Given the description of an element on the screen output the (x, y) to click on. 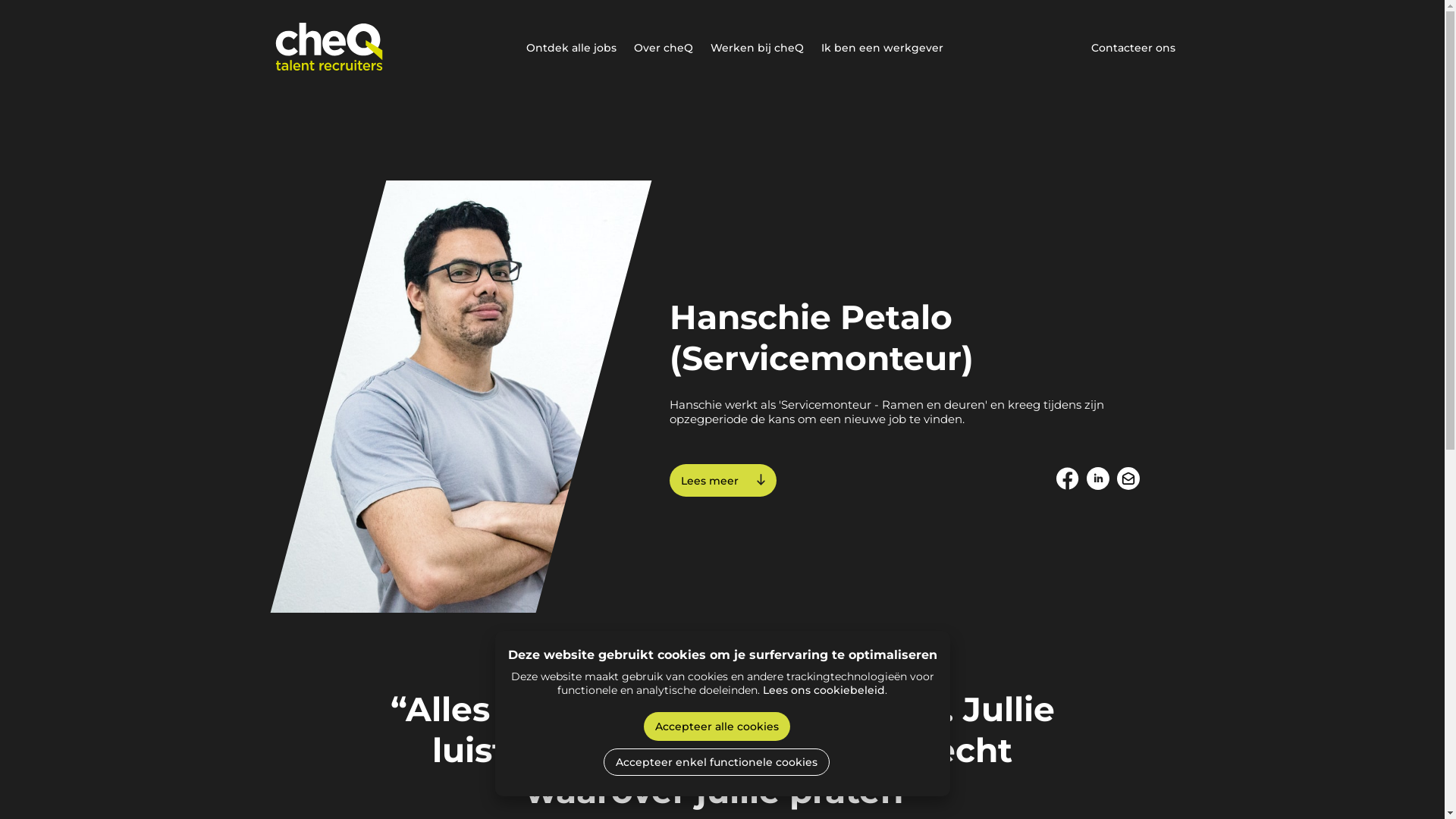
Accepteer alle cookies Element type: text (716, 725)
Group 2 Element type: text (1127, 479)
Lees ons cookiebeleid Element type: text (823, 689)
Accepteer enkel functionele cookies Element type: text (716, 761)
Ontdek alle jobs Element type: text (571, 48)
Path Element type: text (1066, 479)
Contacteer ons Element type: text (1133, 48)
Lees meer Onder Element type: text (721, 480)
Over cheQ Element type: text (663, 48)
Ik ben een werkgever Element type: text (881, 48)
Icon/linkedin Element type: text (1096, 479)
Werken bij cheQ Element type: text (756, 48)
